Given the description of an element on the screen output the (x, y) to click on. 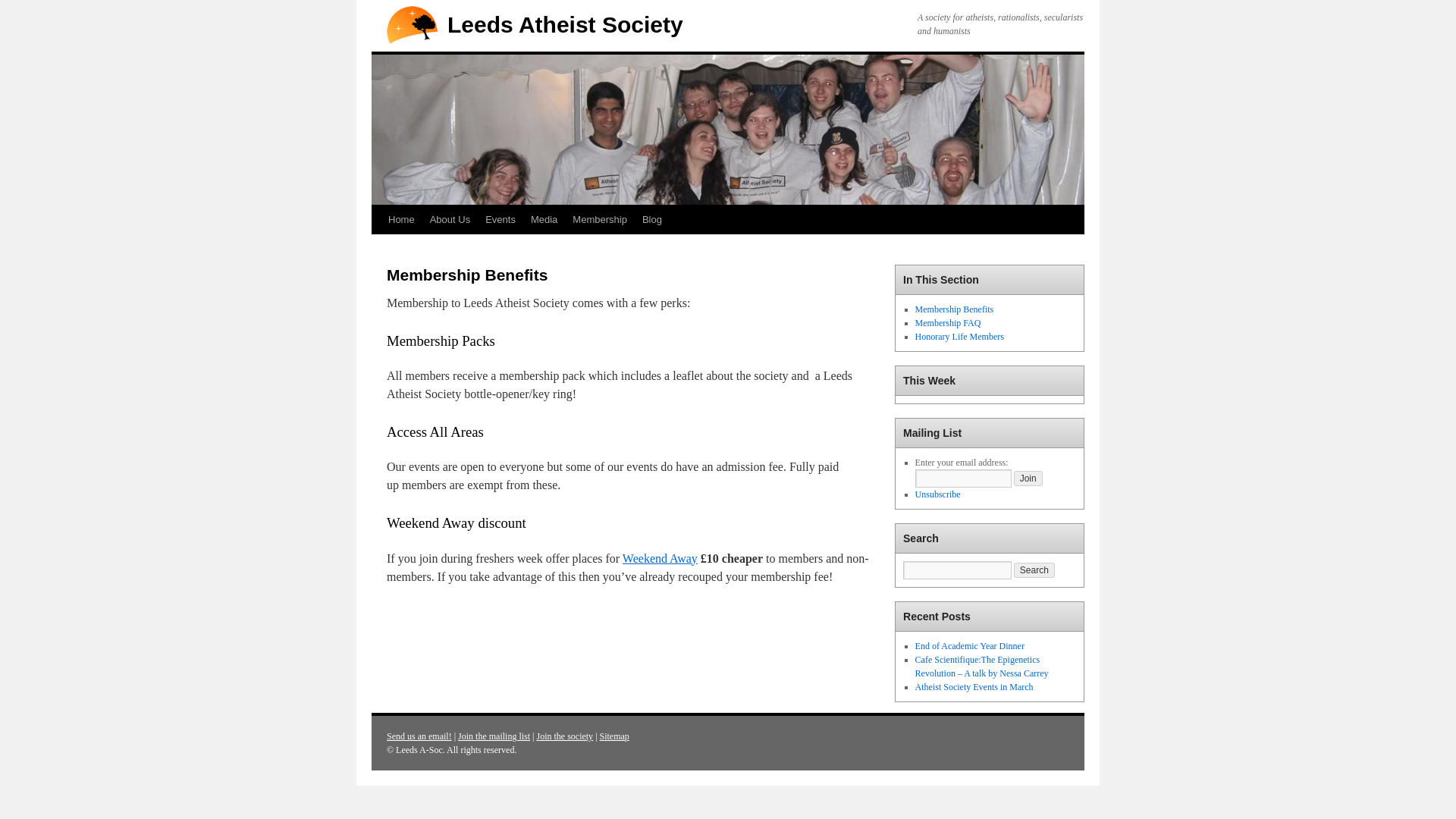
Home (401, 219)
Unsubscribe (937, 493)
Membership Benefits (954, 308)
Join (1027, 478)
Membership FAQ (948, 322)
Leeds Atheist Society (564, 24)
Weekend Away (660, 558)
Membership (599, 219)
Search (1033, 570)
Blog (651, 219)
